Given the description of an element on the screen output the (x, y) to click on. 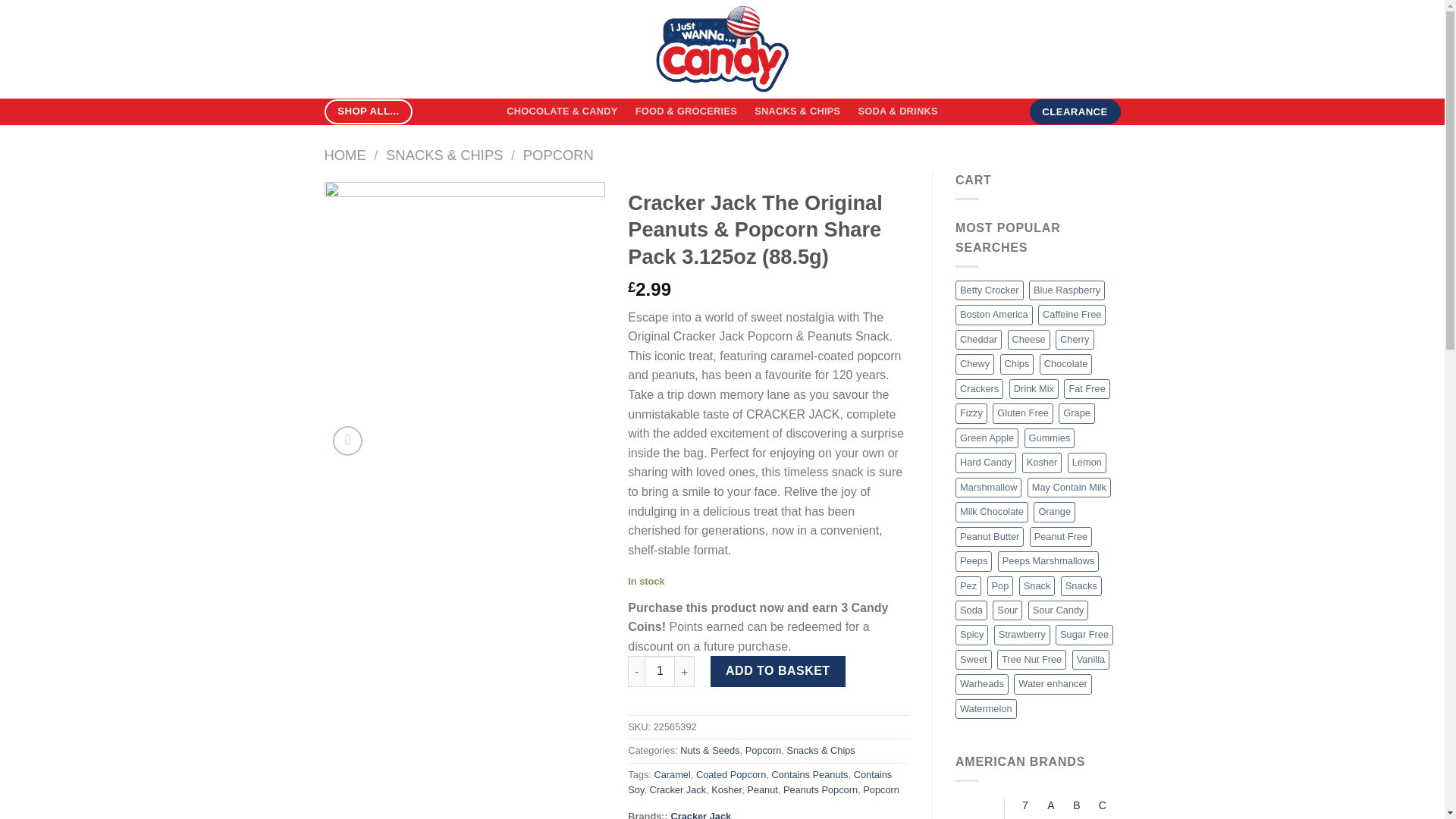
Blue Raspberry (1067, 290)
Zoom (347, 440)
Gluten Free (1022, 413)
Boston America (993, 314)
SHOP ALL... (368, 111)
Drink Mix (1033, 388)
1 (660, 671)
POPCORN (558, 154)
Grape (1076, 413)
Crackers (979, 388)
